Given the description of an element on the screen output the (x, y) to click on. 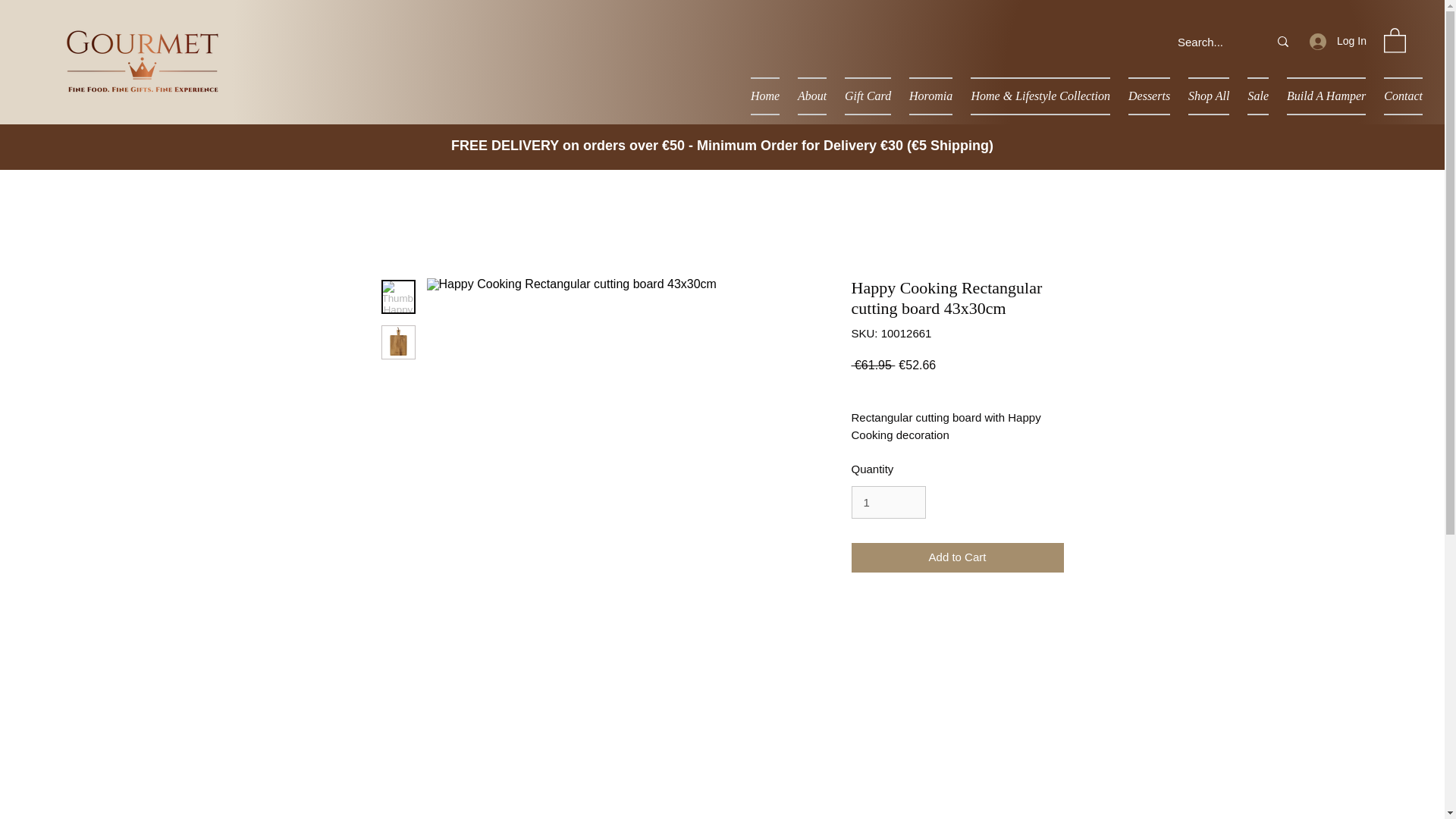
Horomia (929, 95)
Gift Card (867, 95)
Shop All (1209, 95)
1 (887, 502)
Add to Cart (956, 557)
Log In (1336, 41)
Contact (1398, 95)
Sale (1258, 95)
Home (765, 95)
About (812, 95)
Desserts (1149, 95)
